Given the description of an element on the screen output the (x, y) to click on. 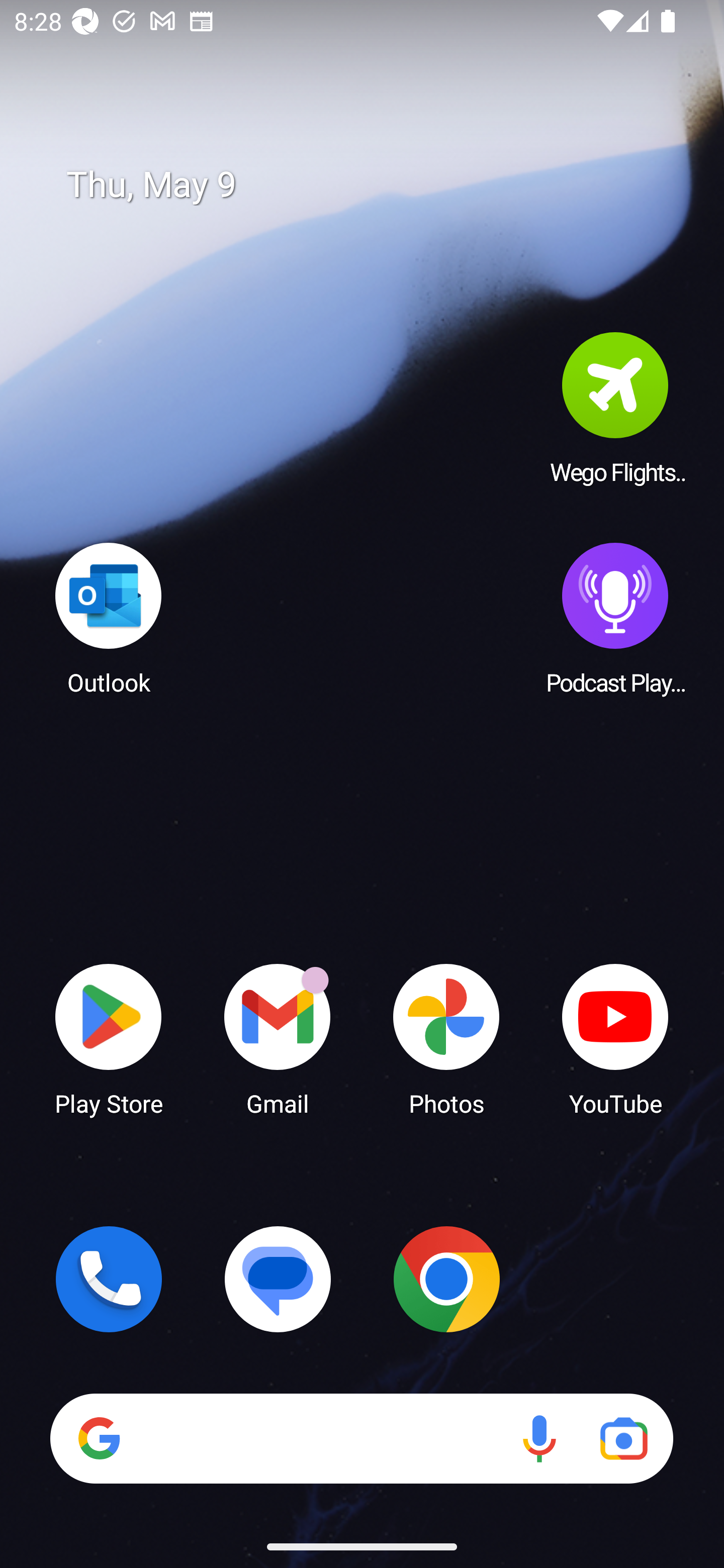
Thu, May 9 (375, 184)
Wego Flights & Hotels (615, 407)
Outlook (108, 617)
Podcast Player (615, 617)
Play Store (108, 1038)
Gmail Gmail has 18 notifications (277, 1038)
Photos (445, 1038)
YouTube (615, 1038)
Phone (108, 1279)
Messages (277, 1279)
Chrome (446, 1279)
Search Voice search Google Lens (361, 1438)
Voice search (539, 1438)
Google Lens (623, 1438)
